Given the description of an element on the screen output the (x, y) to click on. 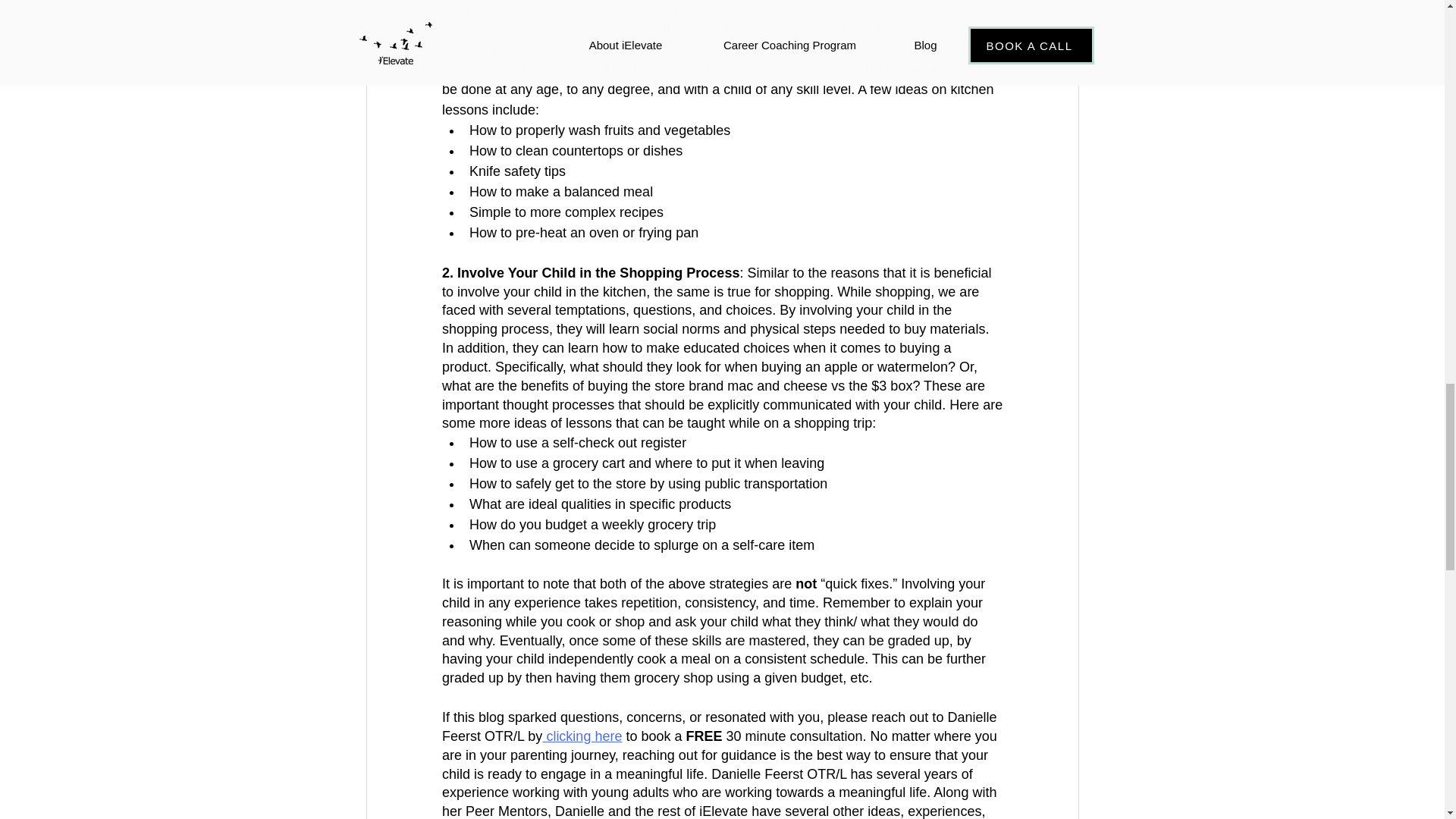
 clicking here (581, 735)
